Given the description of an element on the screen output the (x, y) to click on. 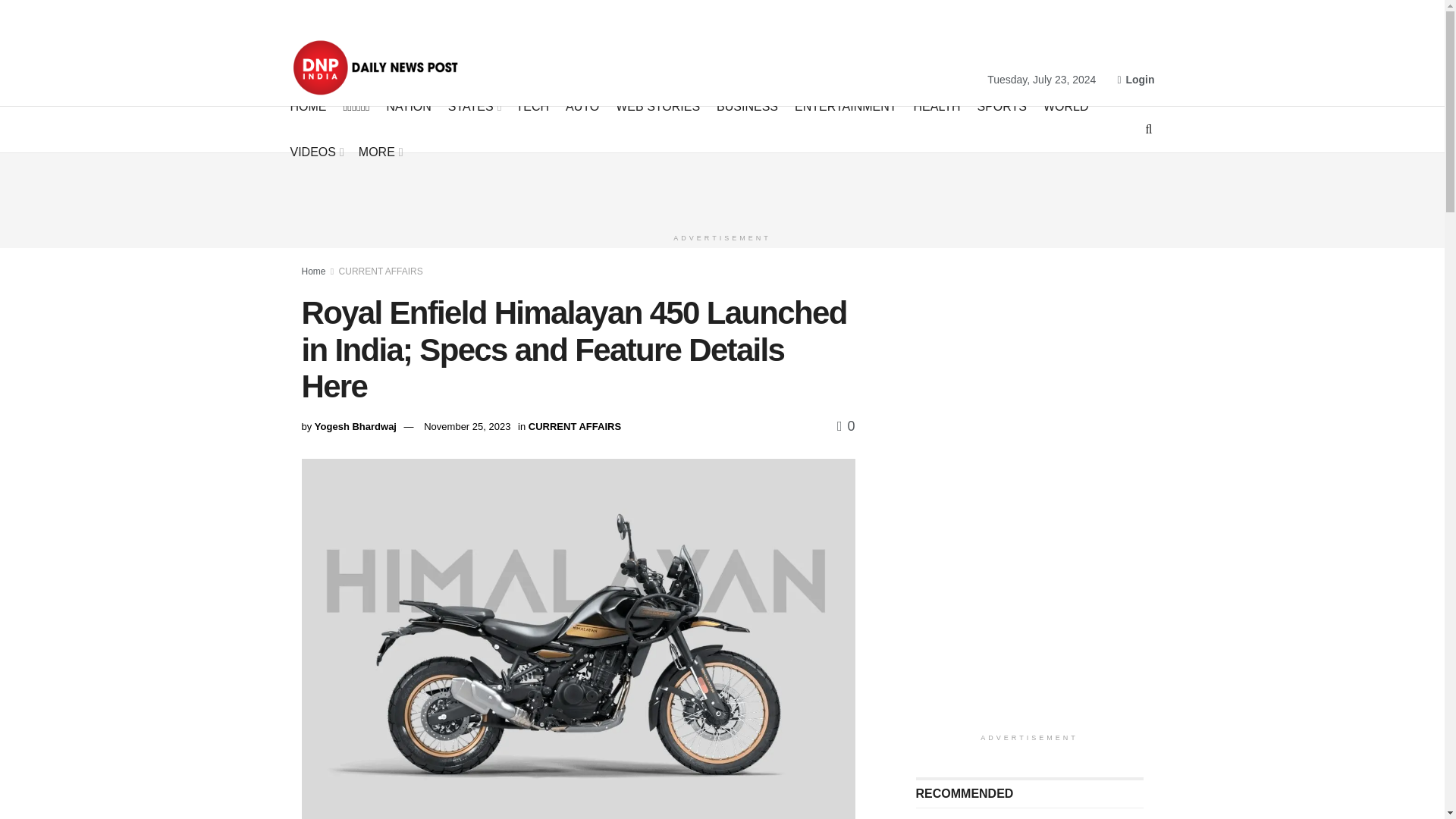
BUSINESS (746, 106)
VIDEOS (314, 151)
AUTO (582, 106)
Advertisement (722, 187)
Login (1135, 79)
SPORTS (1001, 106)
STATES (473, 106)
WORLD (1066, 106)
NATION (408, 106)
MORE (379, 151)
TECH (533, 106)
ENTERTAINMENT (845, 106)
WEB STORIES (657, 106)
HEALTH (937, 106)
HOME (307, 106)
